Given the description of an element on the screen output the (x, y) to click on. 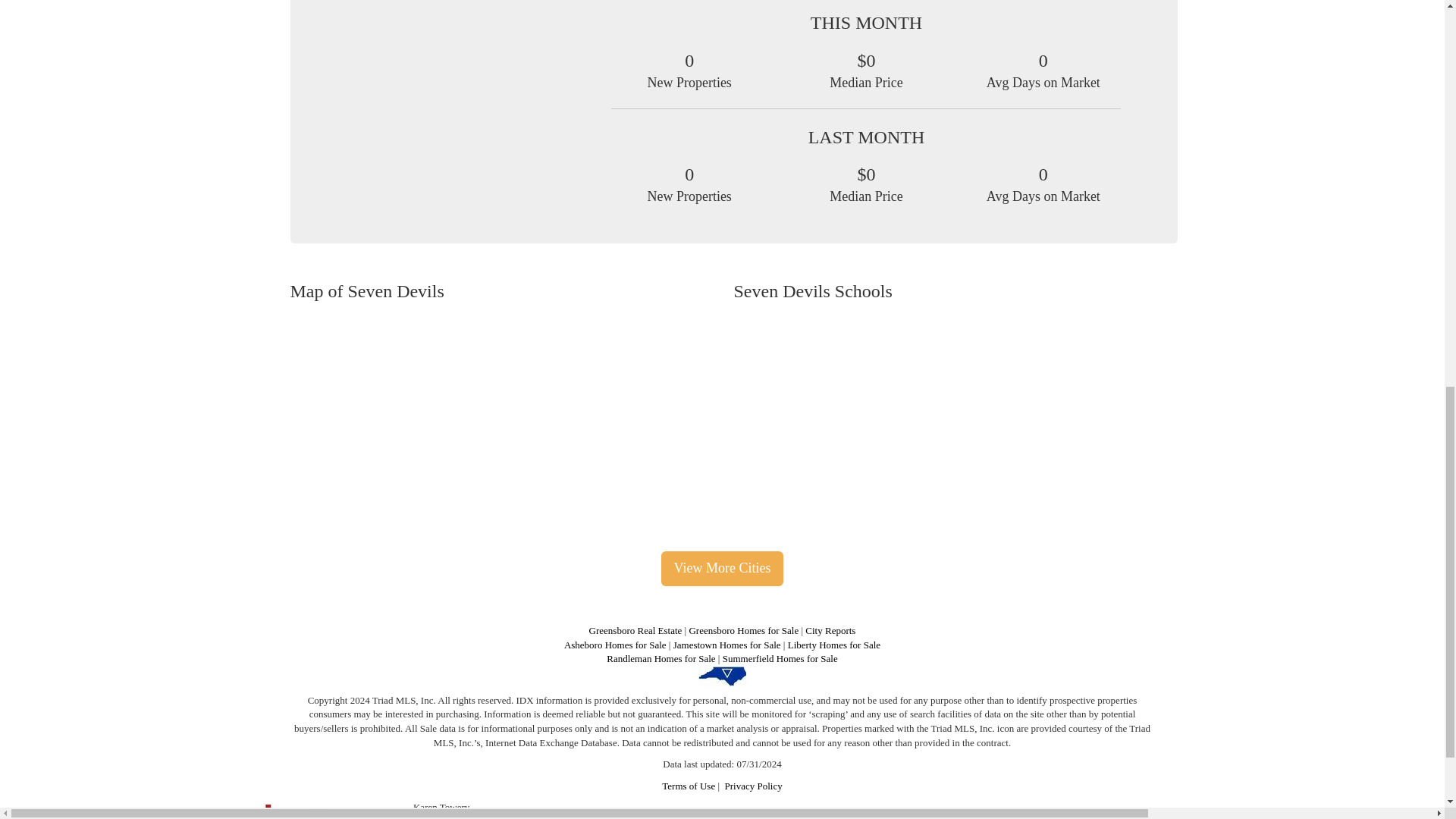
Privacy Policy (754, 785)
Greensboro Real Estate (635, 630)
Terms of Use (688, 785)
Liberty Homes for Sale (833, 644)
Greensboro Homes for Sale (742, 630)
Jamestown Homes for Sale (726, 644)
City Reports (830, 630)
Randleman Homes for Sale (660, 658)
Asheboro Homes for Sale (615, 644)
Summerfield Homes for Sale (780, 658)
View More Cities (722, 568)
